Given the description of an element on the screen output the (x, y) to click on. 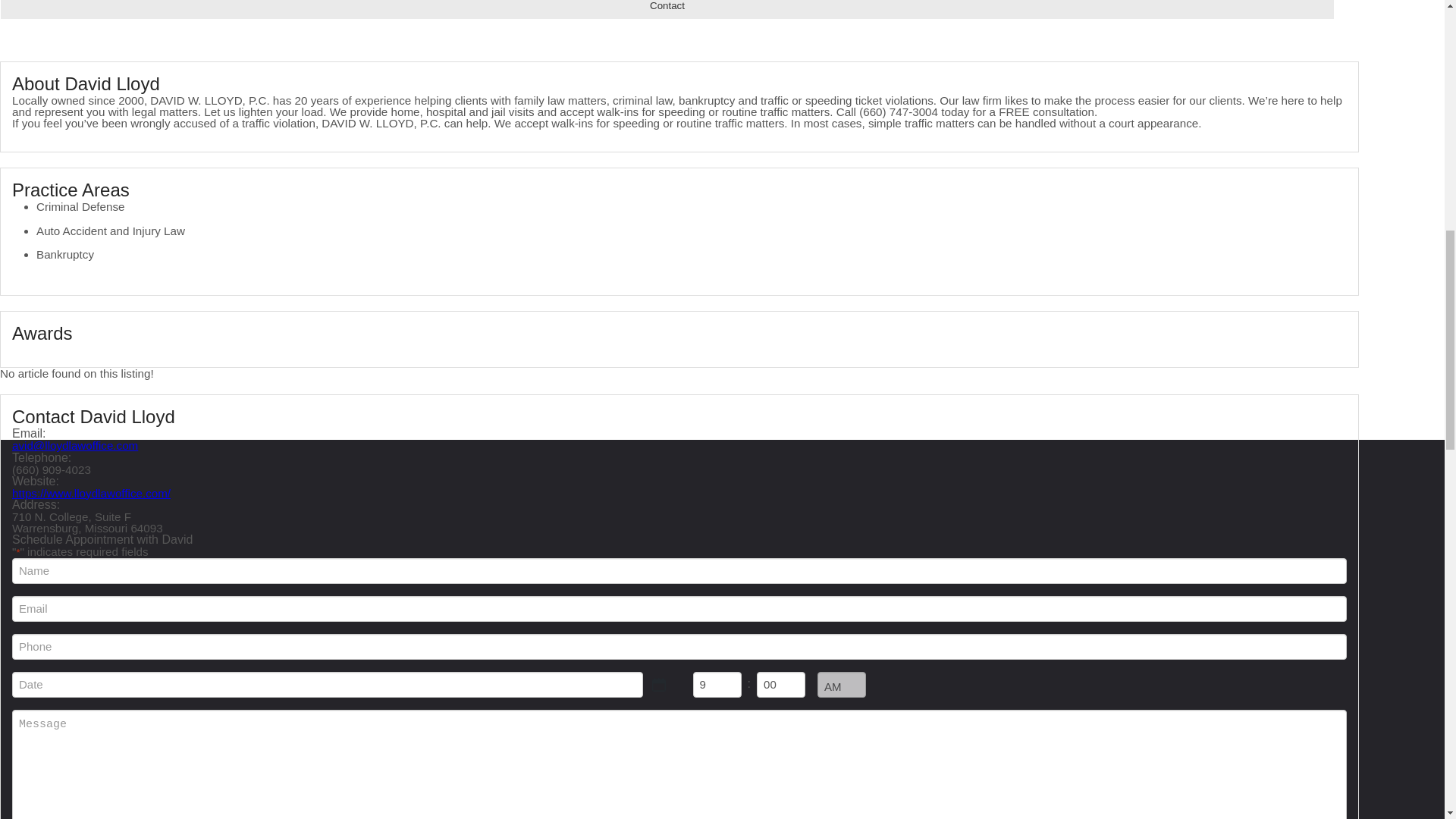
9 (717, 684)
Select date (658, 684)
00 (781, 684)
Contact (667, 9)
